Given the description of an element on the screen output the (x, y) to click on. 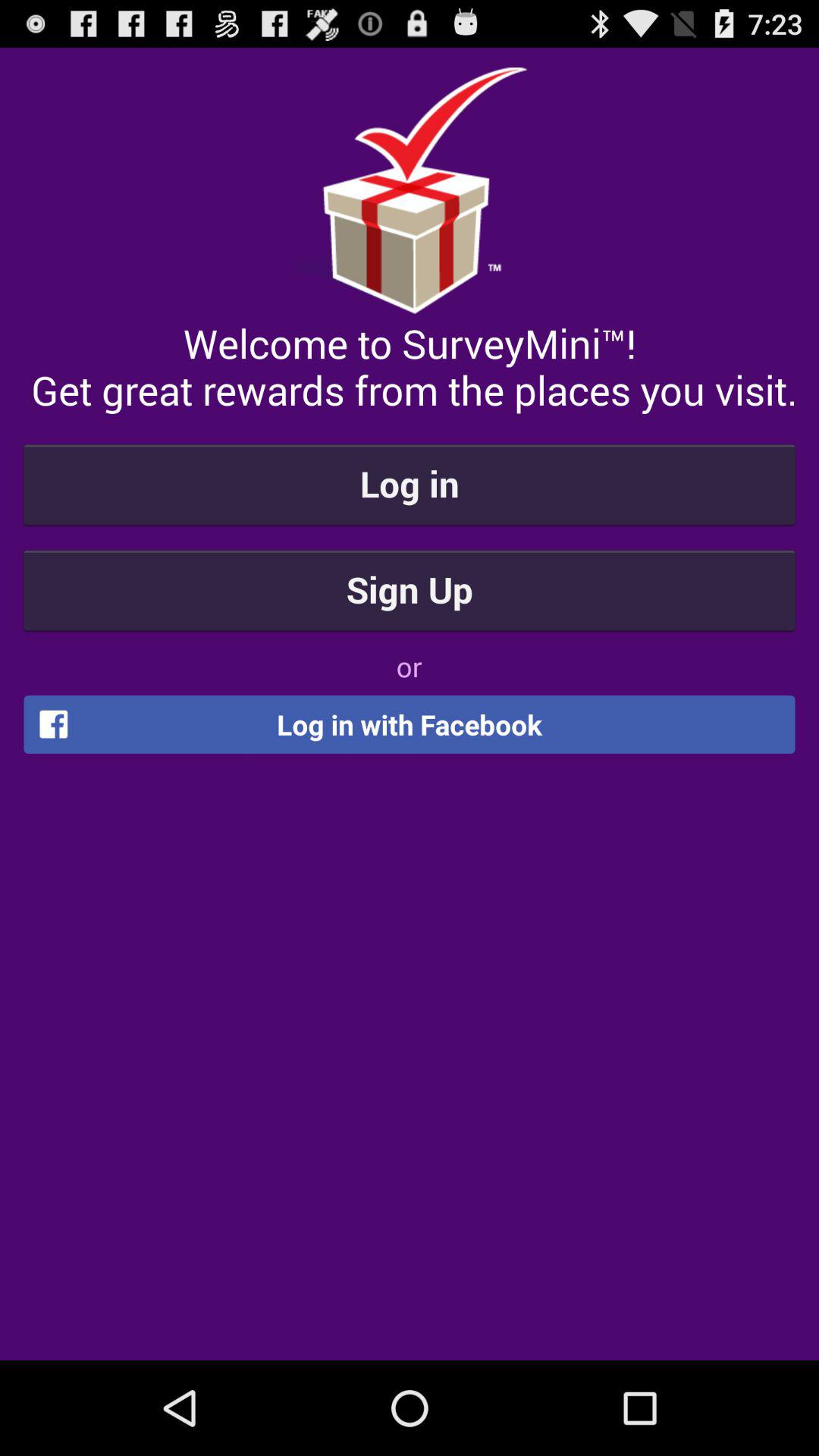
jump until the sign up (409, 589)
